Given the description of an element on the screen output the (x, y) to click on. 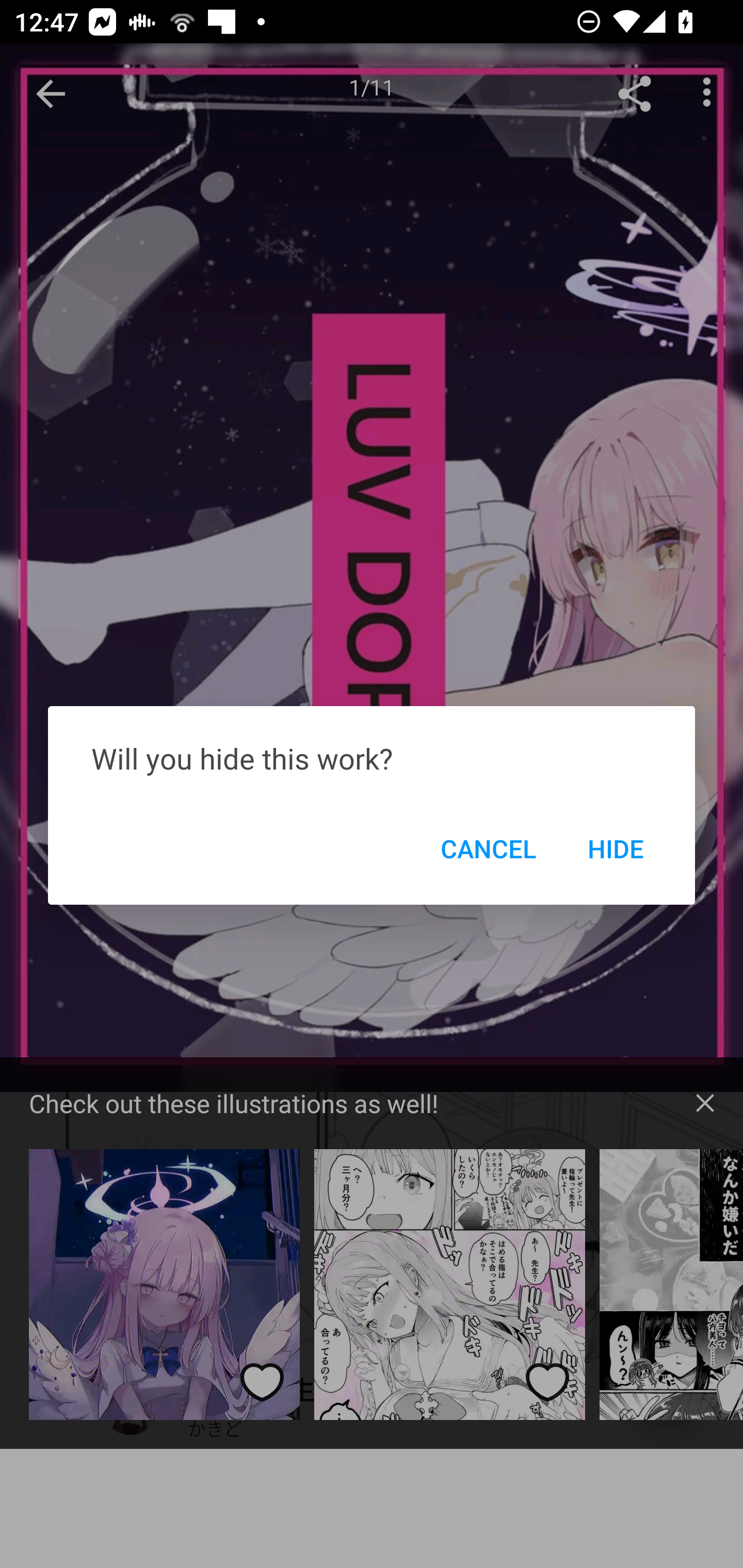
CANCEL (488, 847)
HIDE (615, 847)
